Given the description of an element on the screen output the (x, y) to click on. 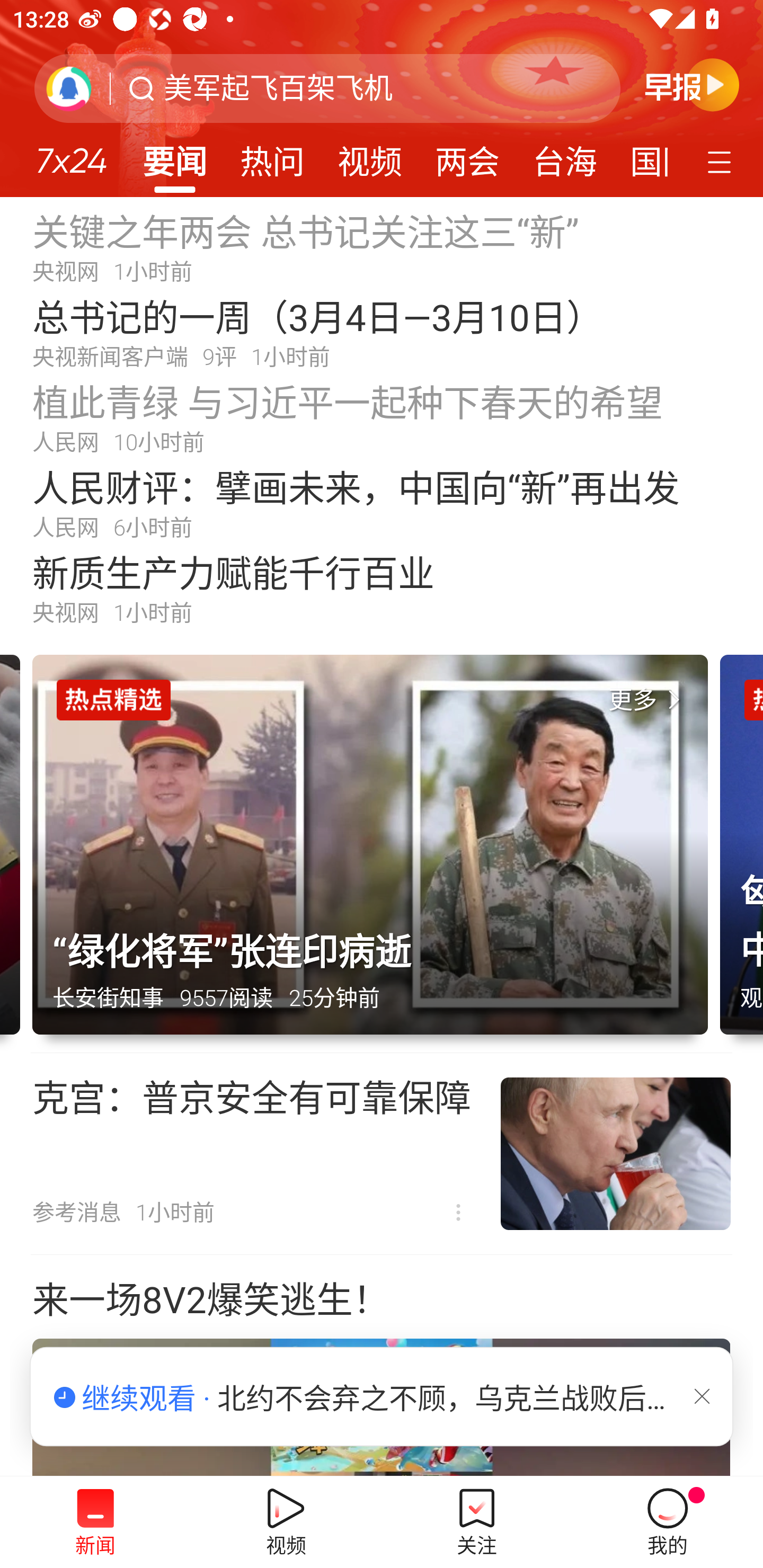
早晚报 (691, 84)
刷新 (68, 88)
美军起飞百架飞机 (278, 88)
7x24 (70, 154)
要闻 (174, 155)
热问 (272, 155)
视频 (369, 155)
两会 (466, 155)
台海 (564, 155)
 定制频道 (721, 160)
关键之年两会 总书记关注这三“新” 央视网 1小时前 (381, 245)
总书记的一周（3月4日—3月10日） 央视新闻客户端 9评 1小时前 (381, 331)
植此青绿 与习近平一起种下春天的希望 人民网 10小时前 (381, 416)
人民财评：擘画未来，中国向“新”再出发 人民网 6小时前 (381, 502)
新质生产力赋能千行百业 央视网 1小时前 (381, 587)
更多  “绿化将军”张连印病逝 长安街知事   9557阅读   25分钟前 (376, 853)
更多  (648, 699)
克宫：普京安全有可靠保障 参考消息 1小时前  不感兴趣 (381, 1153)
 不感兴趣 (458, 1212)
来一场8V2爆笑逃生！ (381, 1365)
 (702, 1396)
